Given the description of an element on the screen output the (x, y) to click on. 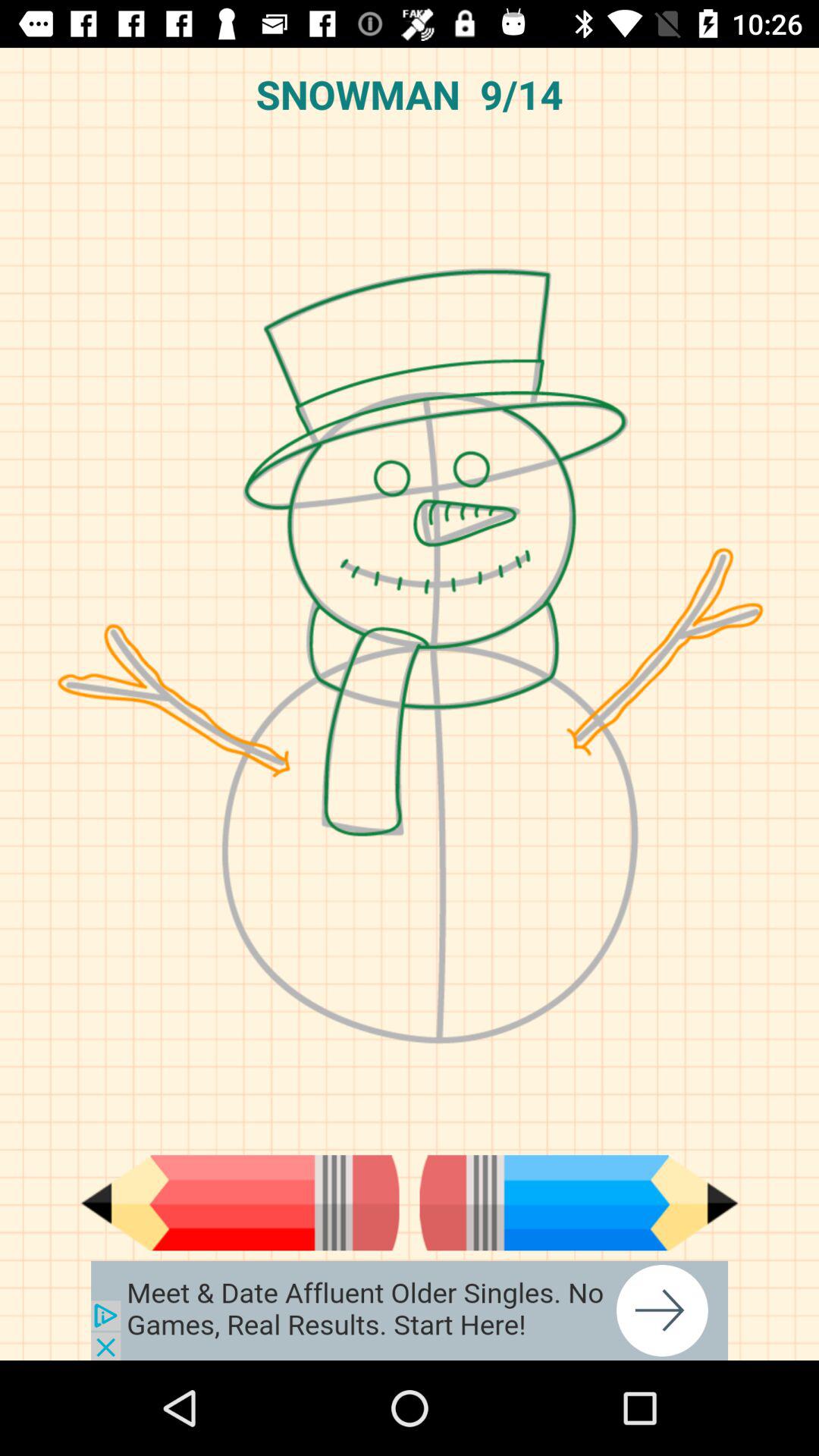
back (239, 1202)
